Given the description of an element on the screen output the (x, y) to click on. 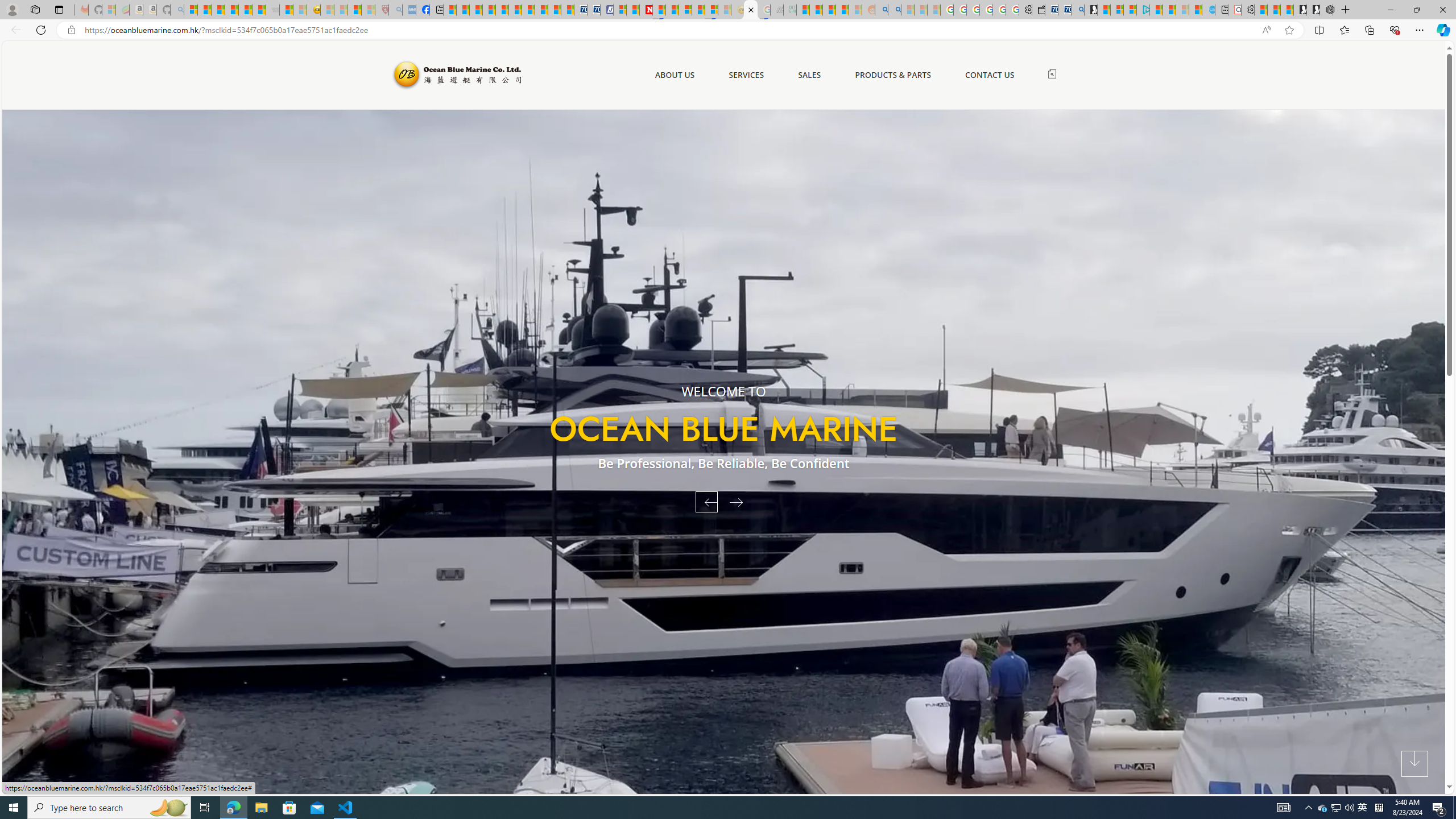
Climate Damage Becomes Too Severe To Reverse (488, 9)
Ocean Blue Marine (455, 74)
